Given the description of an element on the screen output the (x, y) to click on. 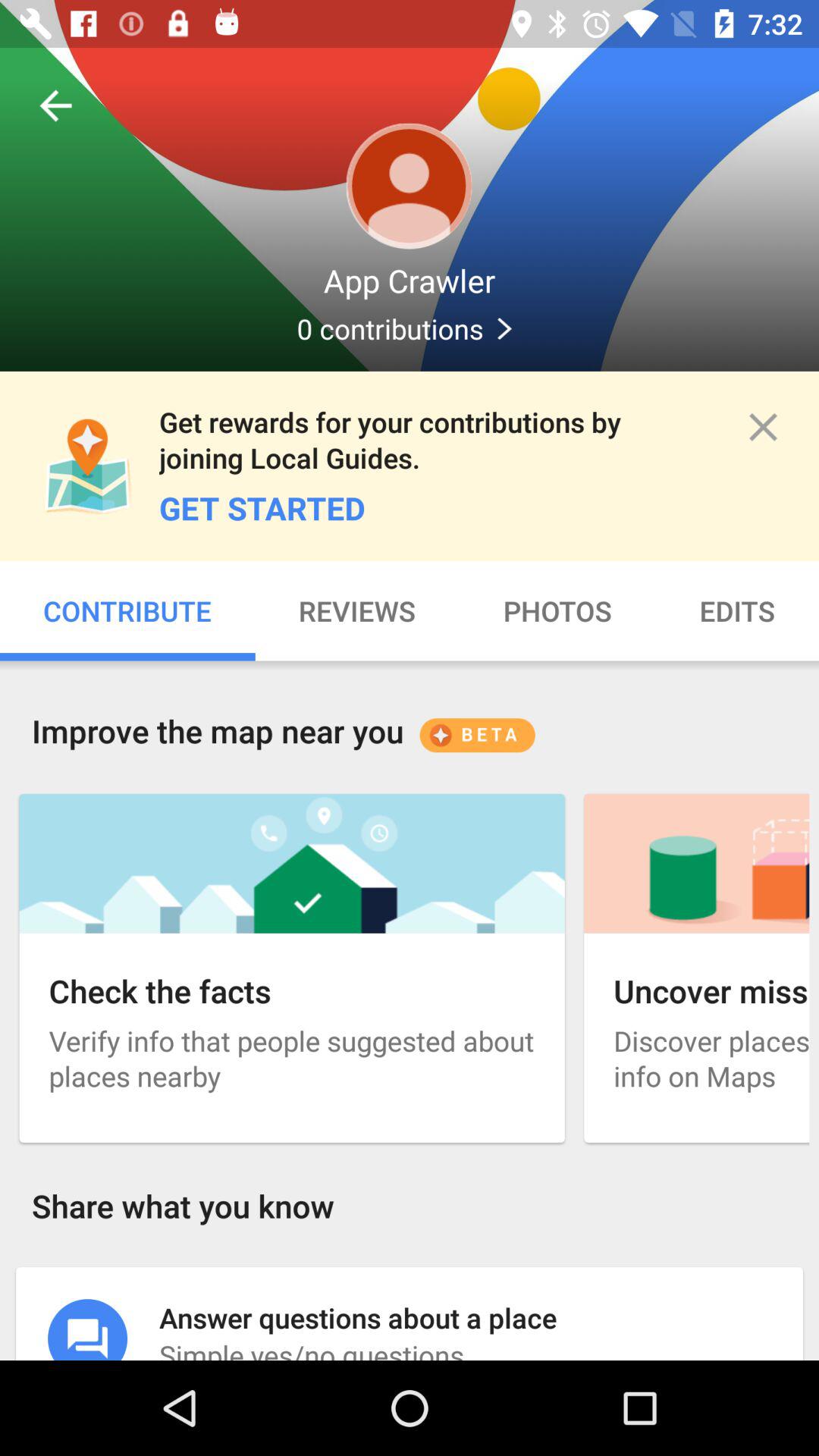
launch app to the right of get rewards for item (763, 426)
